Given the description of an element on the screen output the (x, y) to click on. 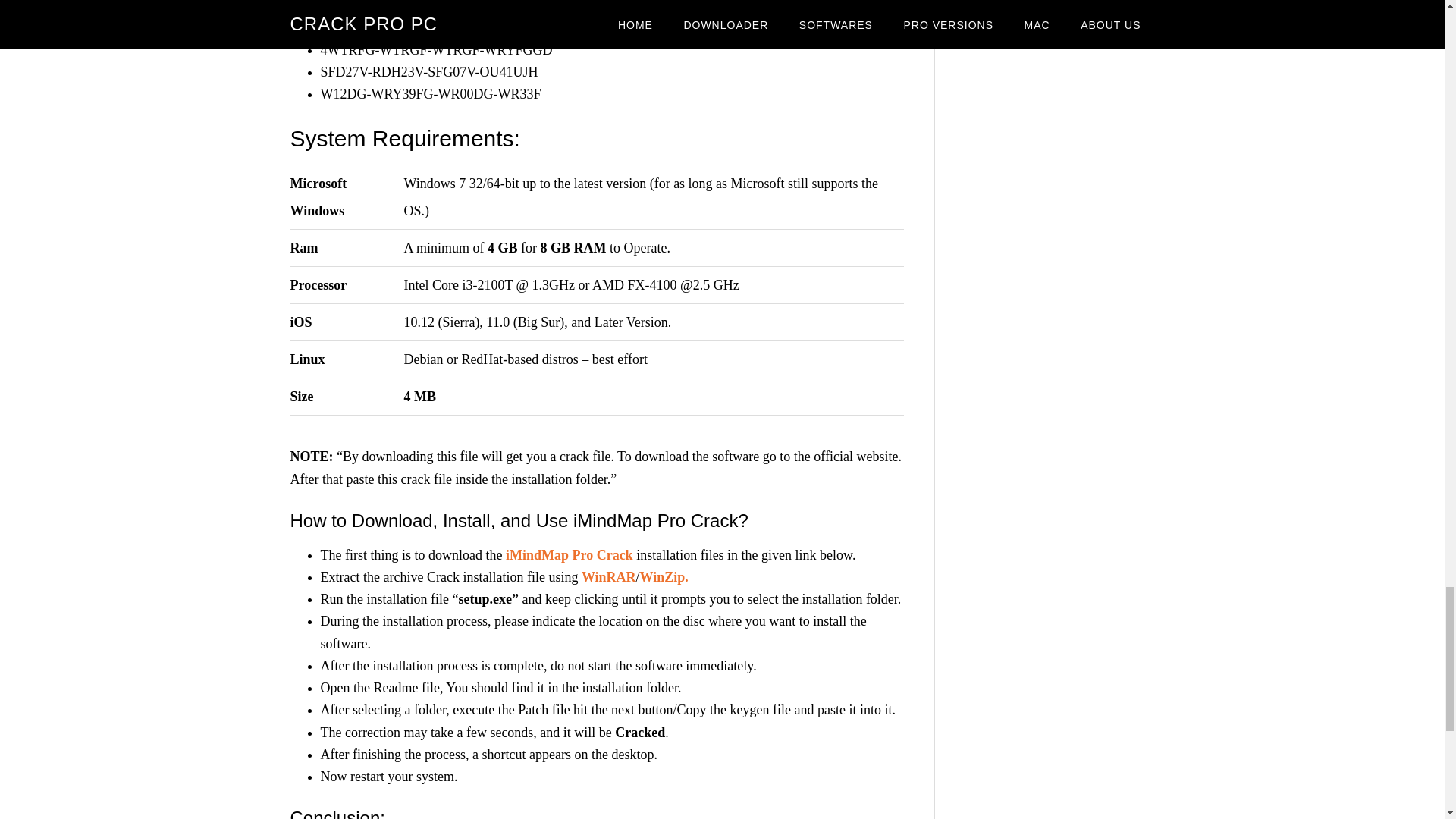
WinZip. (664, 576)
WinRAR (608, 576)
iMindMap Pro Crack (569, 554)
